Given the description of an element on the screen output the (x, y) to click on. 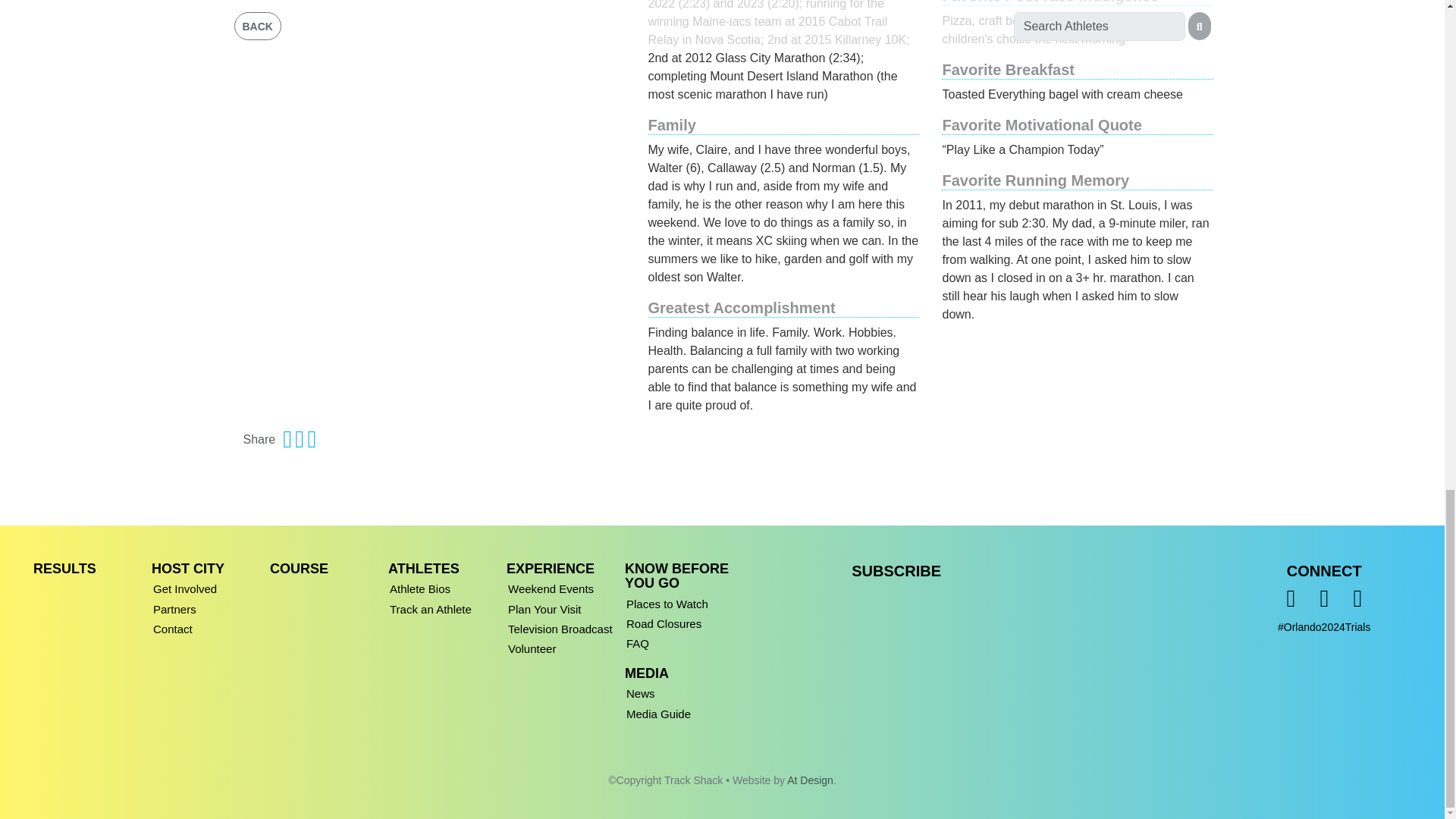
Get Involved (207, 586)
HOST CITY (187, 568)
RESULTS (64, 568)
COURSE (299, 568)
Contact (207, 626)
Partners (207, 606)
